Given the description of an element on the screen output the (x, y) to click on. 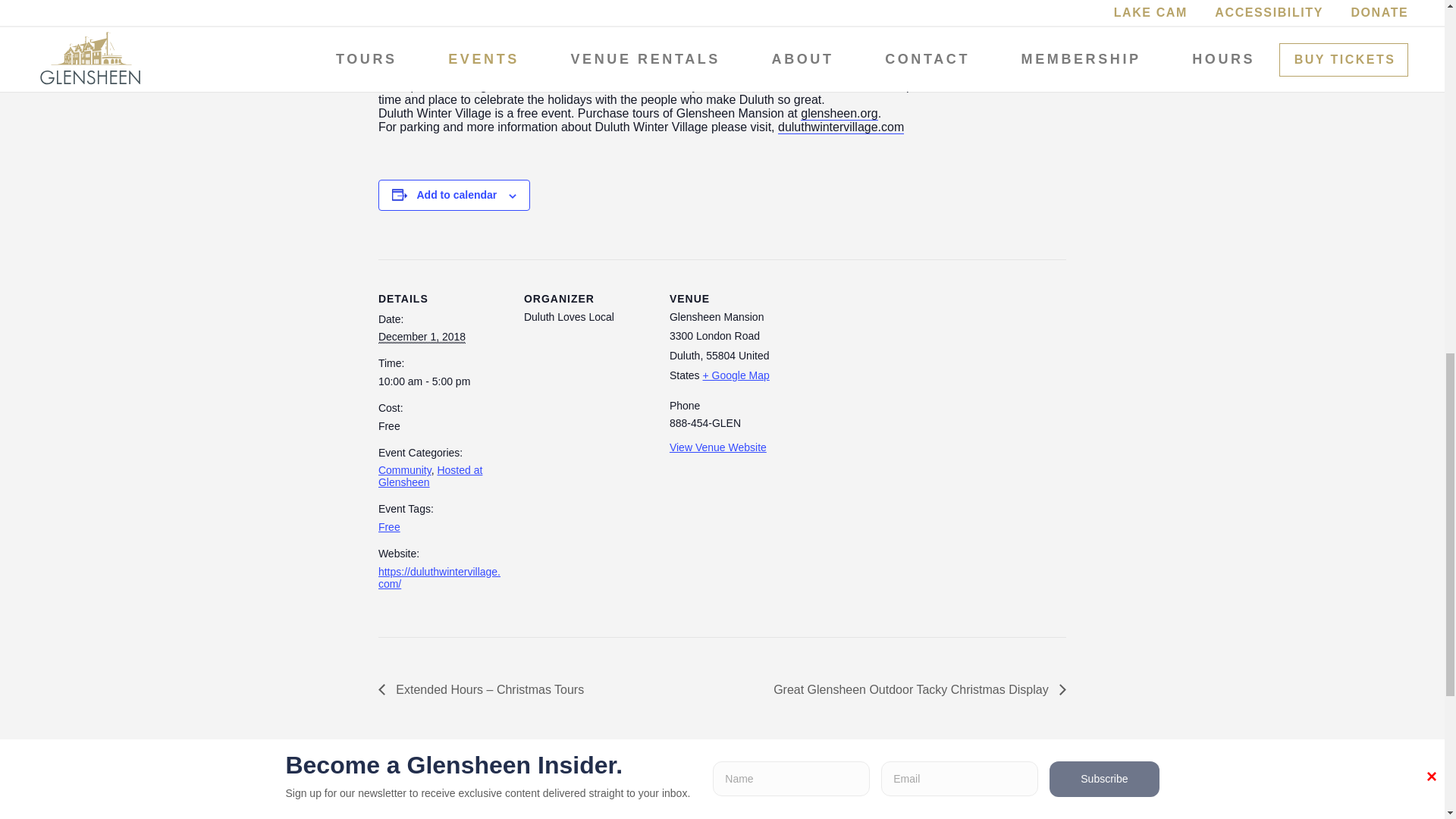
Follow Glensheen on YouTube (1224, 813)
Click to view a Google Map (734, 375)
Follow Glensheen on Twitter (1168, 813)
Follow Glensheen on Facebook (1056, 813)
2018-12-01 (421, 336)
2018-12-01 (441, 381)
Follow Glensheen on Instagram (1111, 813)
